Given the description of an element on the screen output the (x, y) to click on. 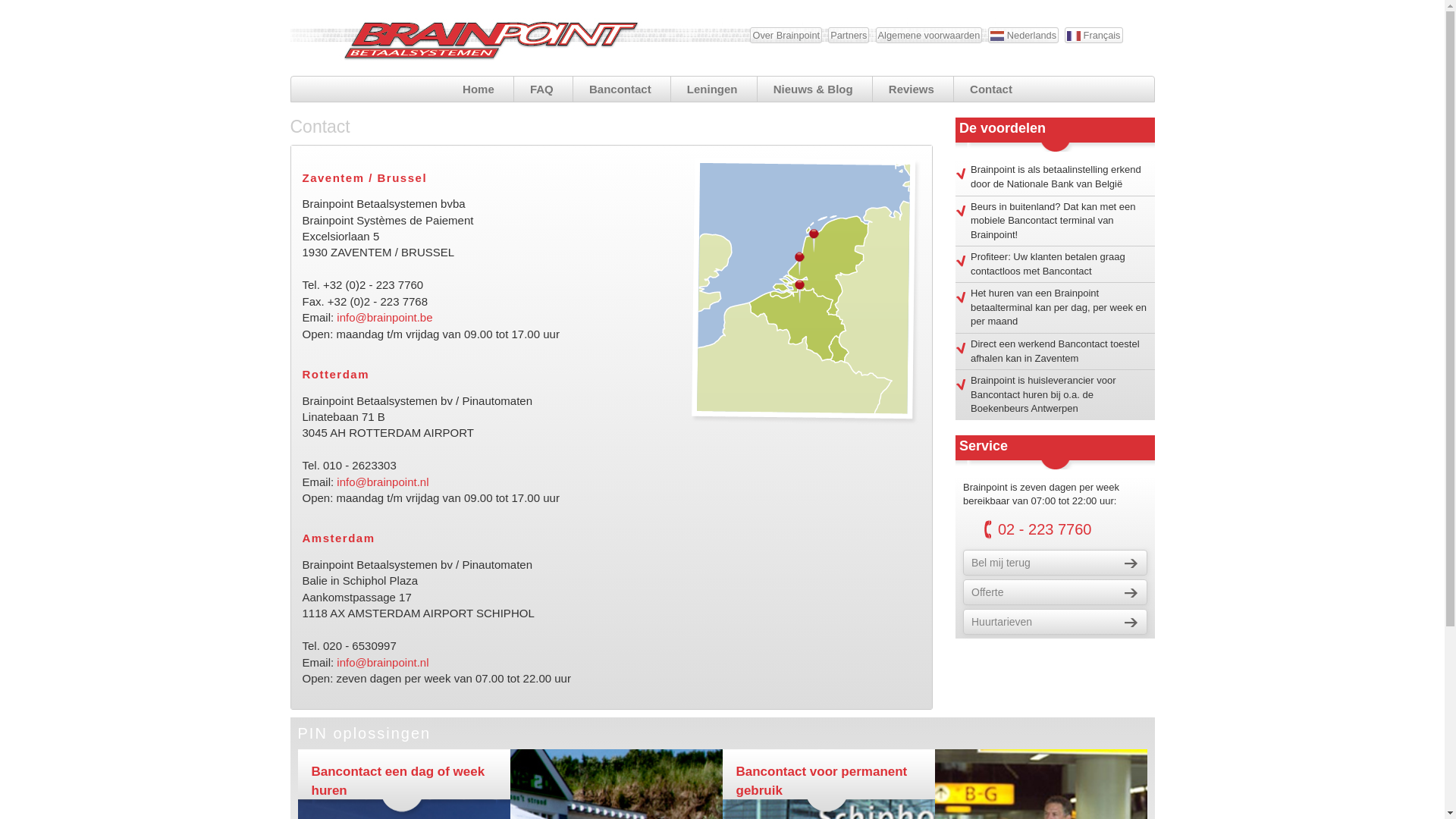
Leningen Element type: text (712, 89)
Partners Element type: text (848, 35)
FAQ Element type: text (541, 89)
Bancontact voor permanent gebruik Element type: text (820, 780)
Bancontact een dag of week huren Element type: text (397, 780)
Nederlands Element type: text (1023, 35)
info@brainpoint.nl Element type: text (382, 661)
Reviews Element type: text (911, 89)
Offerte Element type: text (1055, 592)
Bel mij terug Element type: text (1055, 562)
Home Element type: text (478, 89)
Contact Element type: text (990, 89)
Algemene voorwaarden Element type: text (928, 35)
Nieuws & Blog Element type: text (812, 89)
Bancontact Element type: text (619, 89)
Over Brainpoint Element type: text (785, 35)
Huurtarieven Element type: text (1055, 621)
info@brainpoint.be Element type: text (384, 316)
info@brainpoint.nl Element type: text (382, 481)
